Given the description of an element on the screen output the (x, y) to click on. 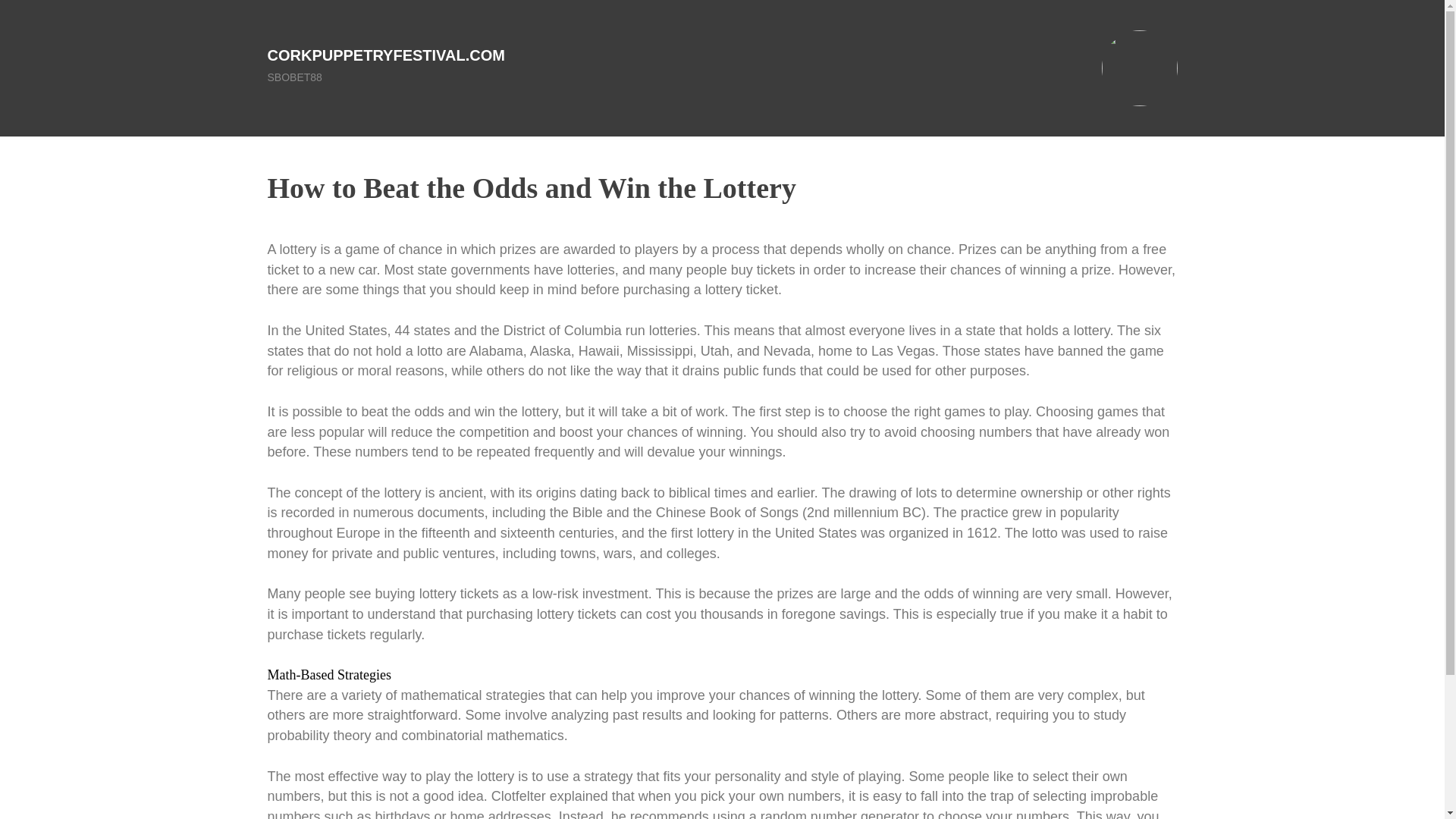
SBOBET88 (293, 77)
CORKPUPPETRYFESTIVAL.COM (384, 54)
corkpuppetryfestival.com (384, 54)
